Given the description of an element on the screen output the (x, y) to click on. 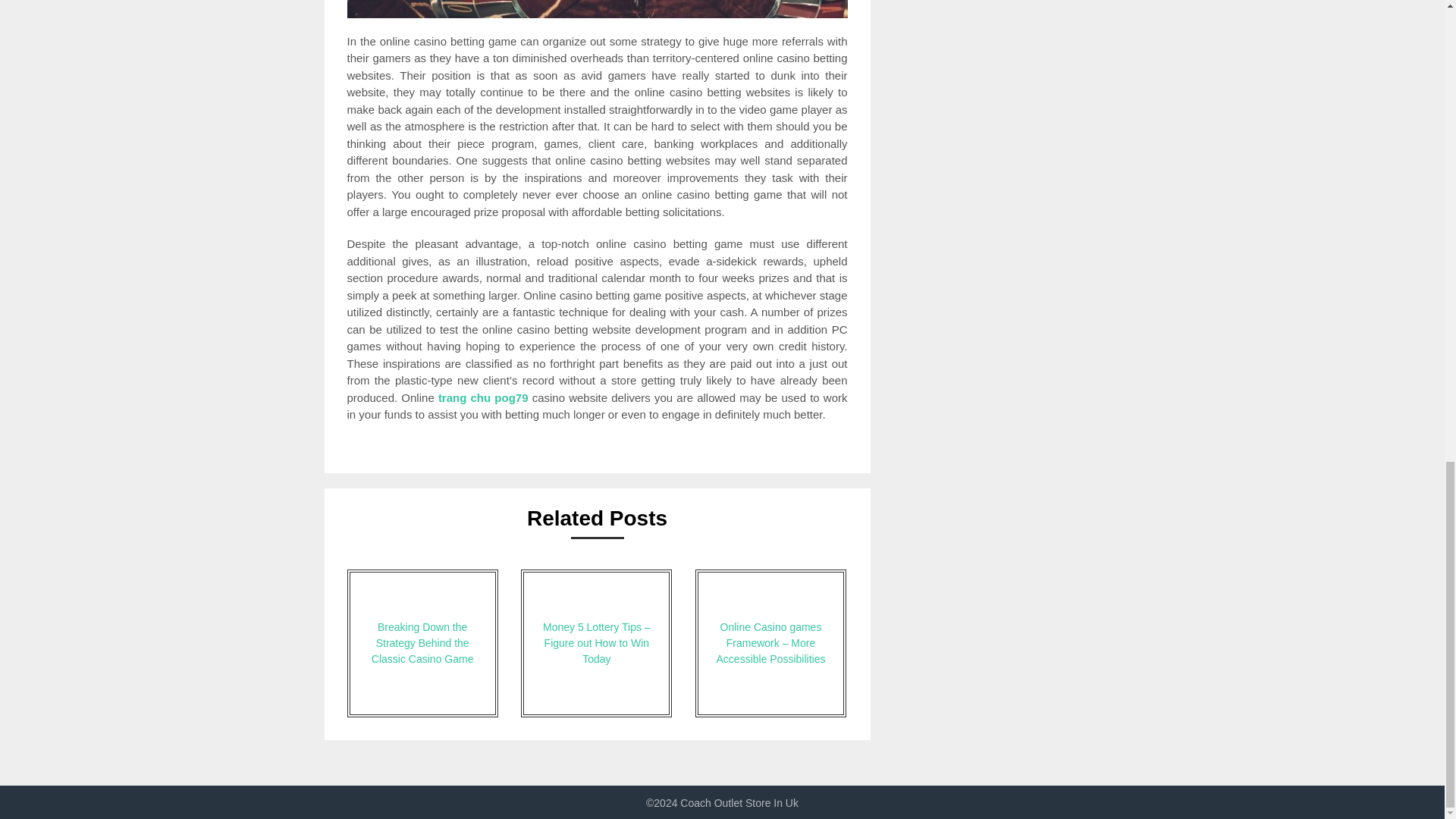
Breaking Down the Strategy Behind the Classic Casino Game (422, 643)
trang chu pog79 (483, 396)
Breaking Down the Strategy Behind the Classic Casino Game (422, 643)
